Given the description of an element on the screen output the (x, y) to click on. 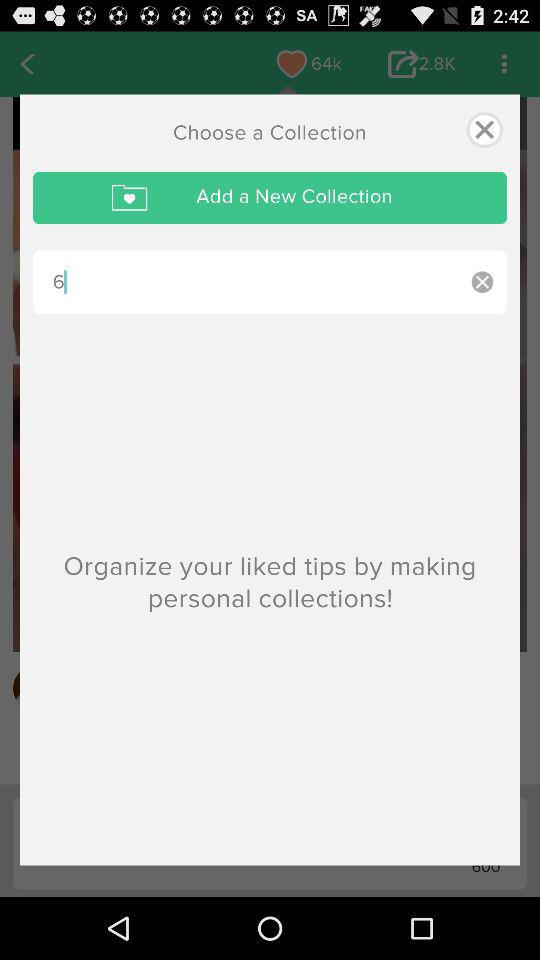
turn on item to the right of the 6 icon (482, 281)
